Given the description of an element on the screen output the (x, y) to click on. 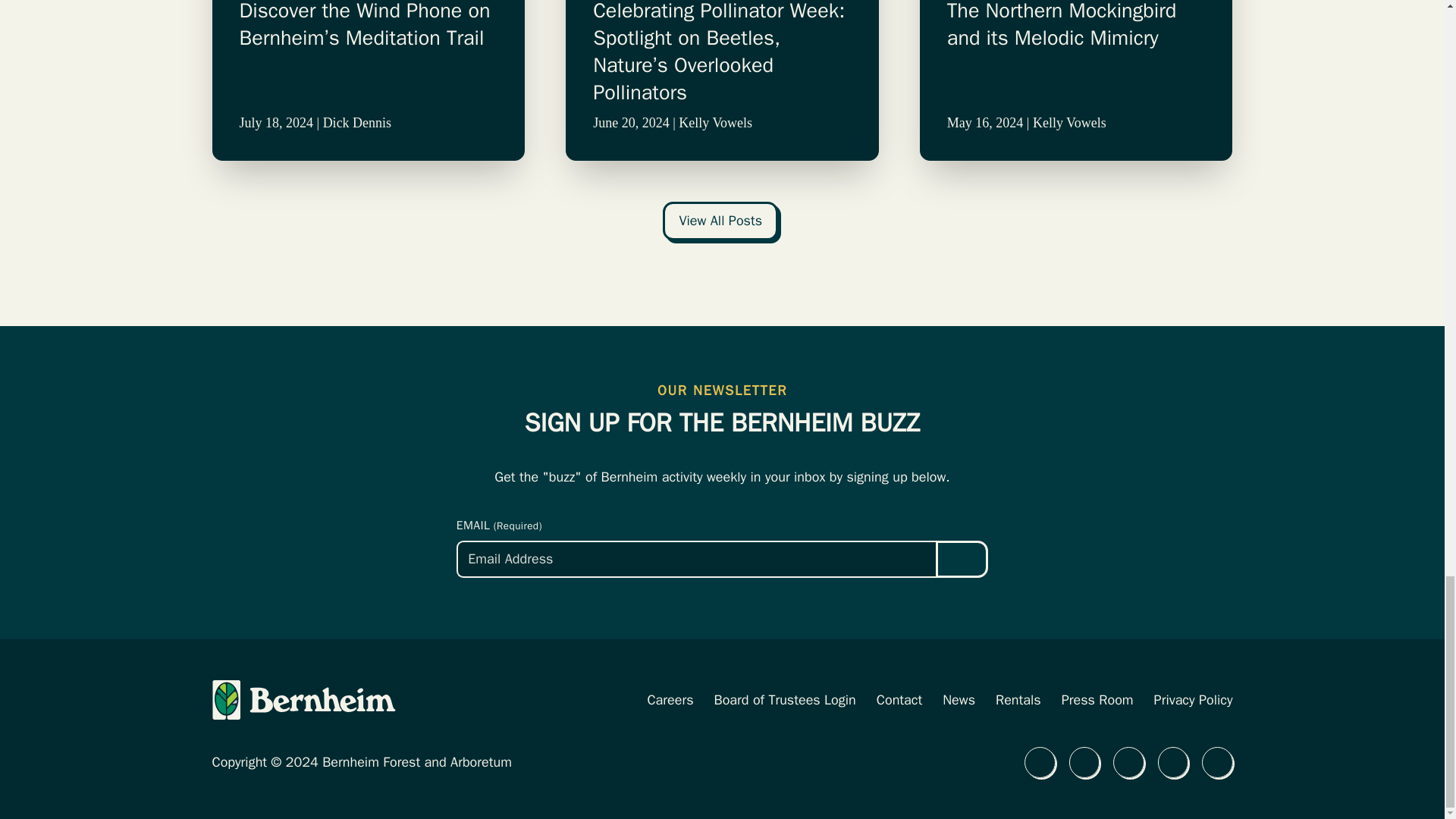
The Northern Mockingbird and its Melodic Mimicry (1076, 53)
Dick Dennis (357, 122)
Kelly Vowels (715, 122)
